Given the description of an element on the screen output the (x, y) to click on. 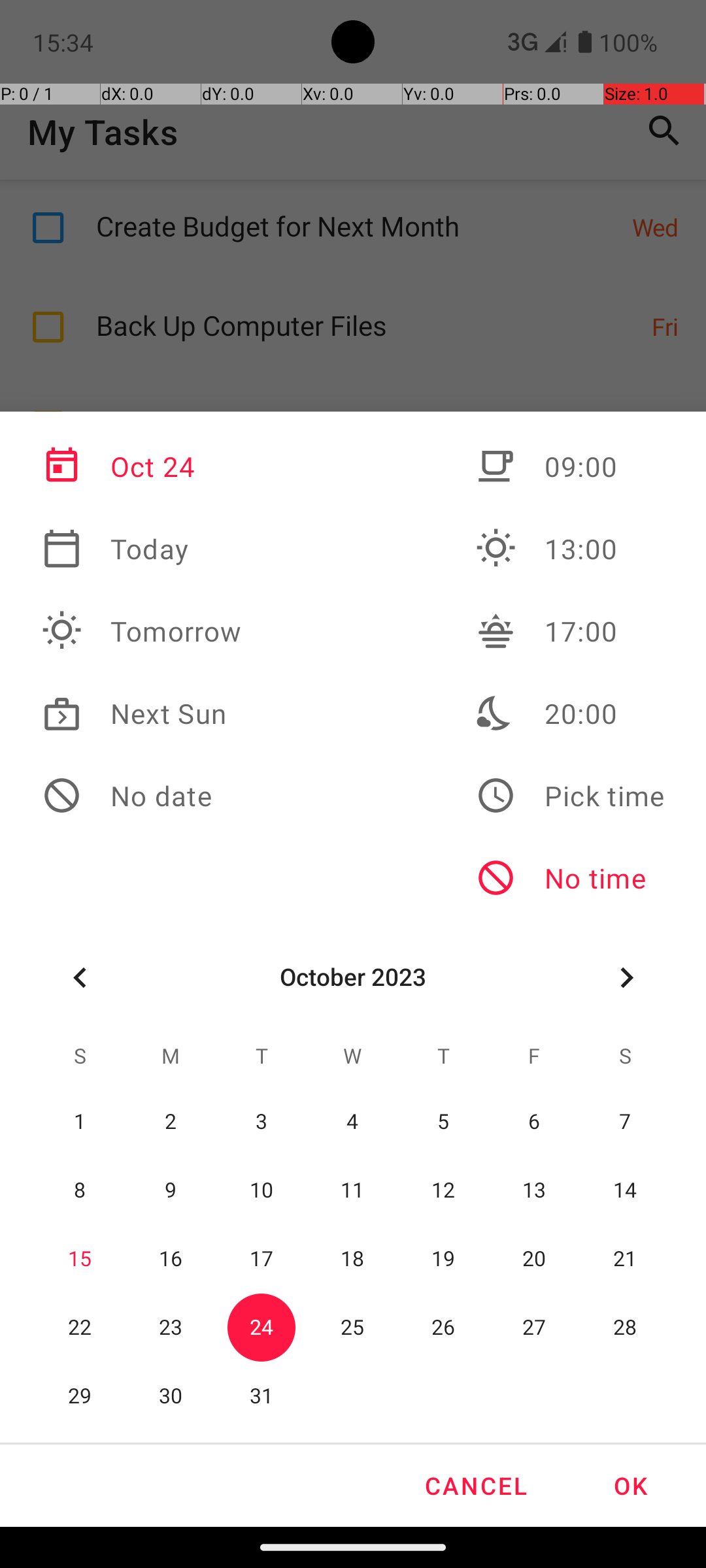
Oct 24 Element type: android.widget.CompoundButton (141, 466)
